Given the description of an element on the screen output the (x, y) to click on. 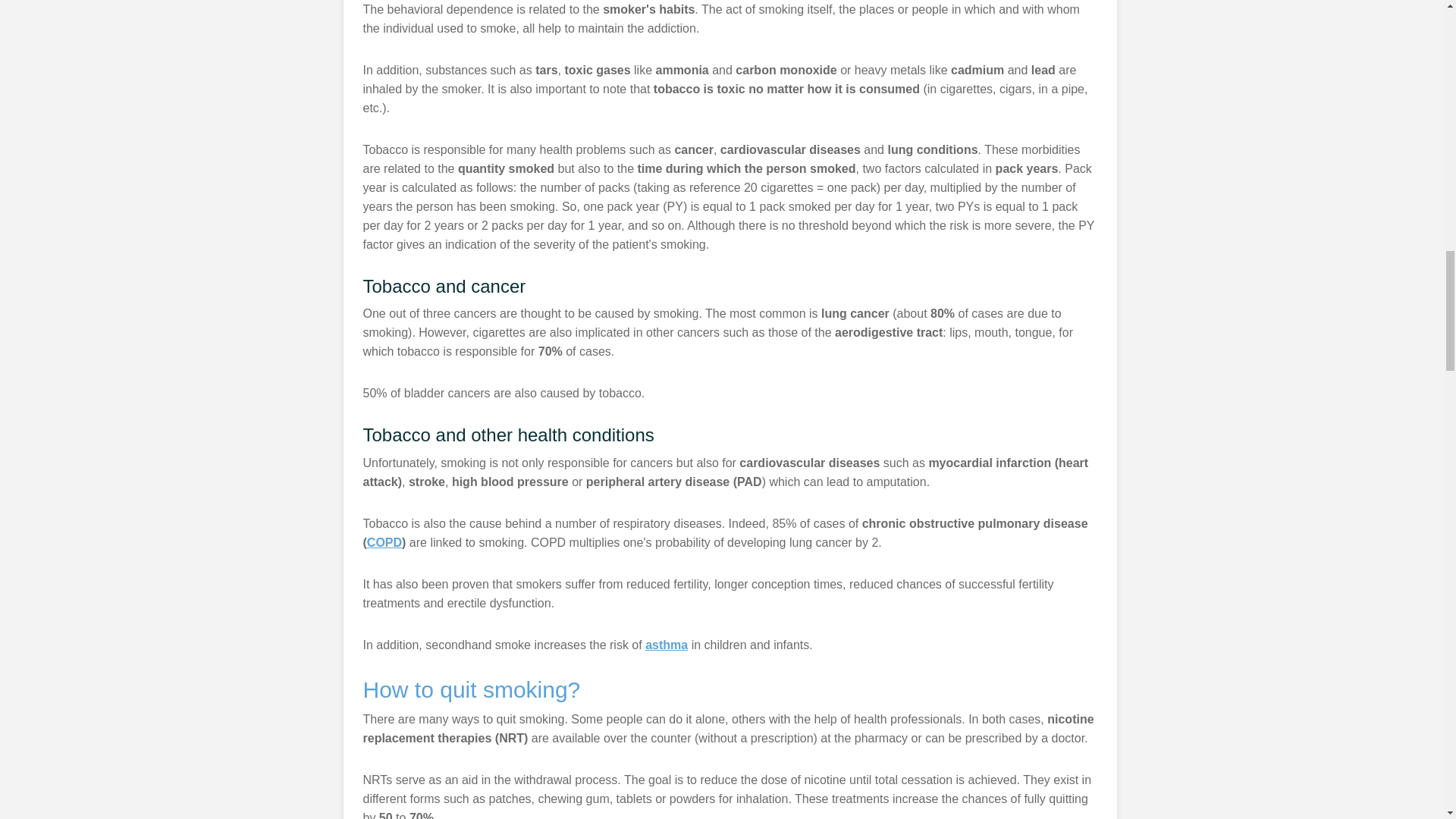
Carenity Fact Sheet (666, 644)
COPD (383, 542)
Carenity Fact Sheet (383, 542)
asthma (666, 644)
